Given the description of an element on the screen output the (x, y) to click on. 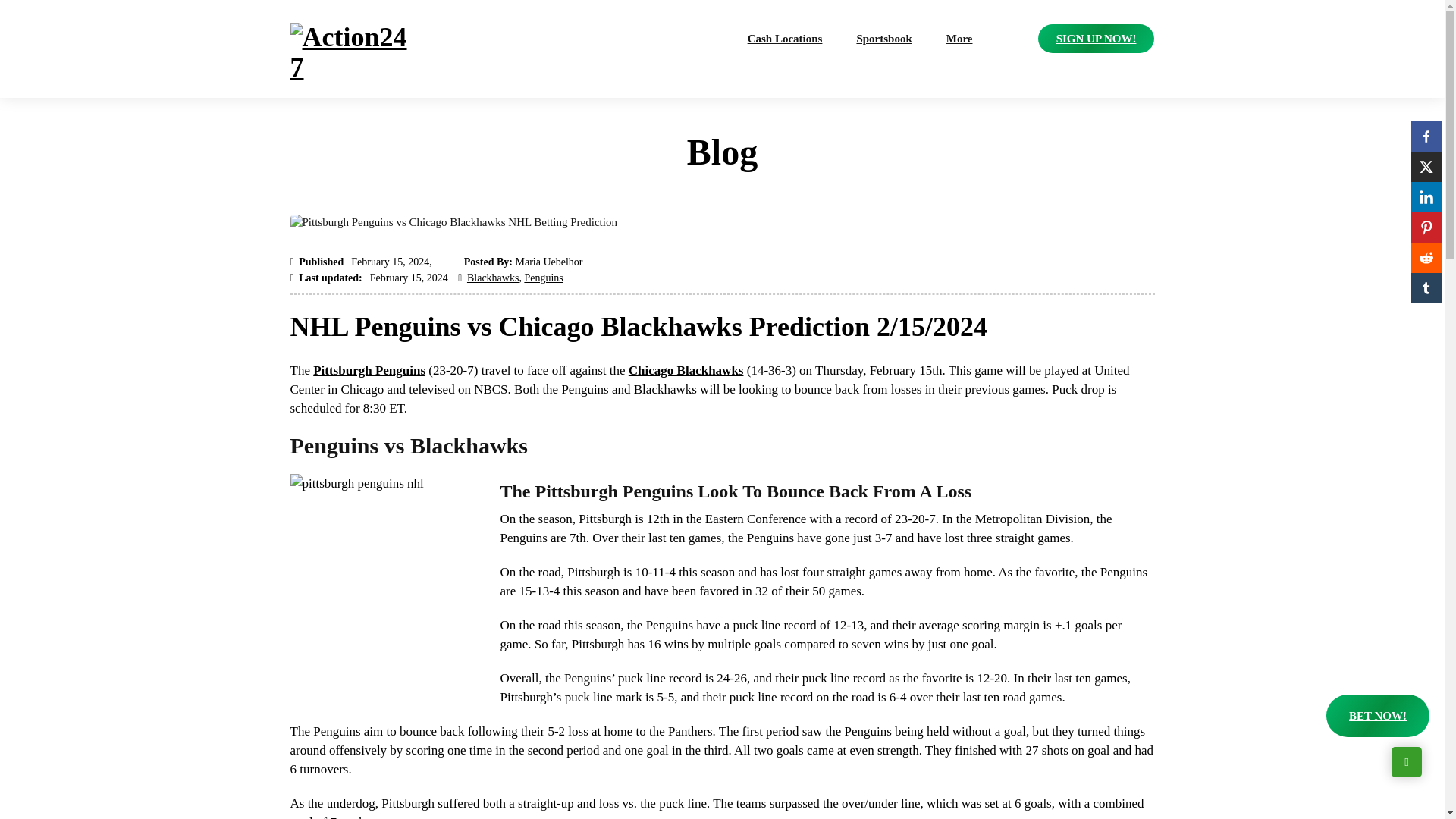
Tumblr (1425, 287)
Penguins (543, 277)
Chicago Blackhawks (686, 370)
Cash Locations (785, 38)
Reddit (1425, 257)
Blackhawks (492, 277)
Sportsbook (883, 38)
Pittsburgh Penguins (369, 370)
Facebook (1425, 136)
More (959, 38)
X (1425, 166)
Pinterest (1425, 227)
SIGN UP NOW! (1096, 38)
Linkedin (1425, 196)
